Given the description of an element on the screen output the (x, y) to click on. 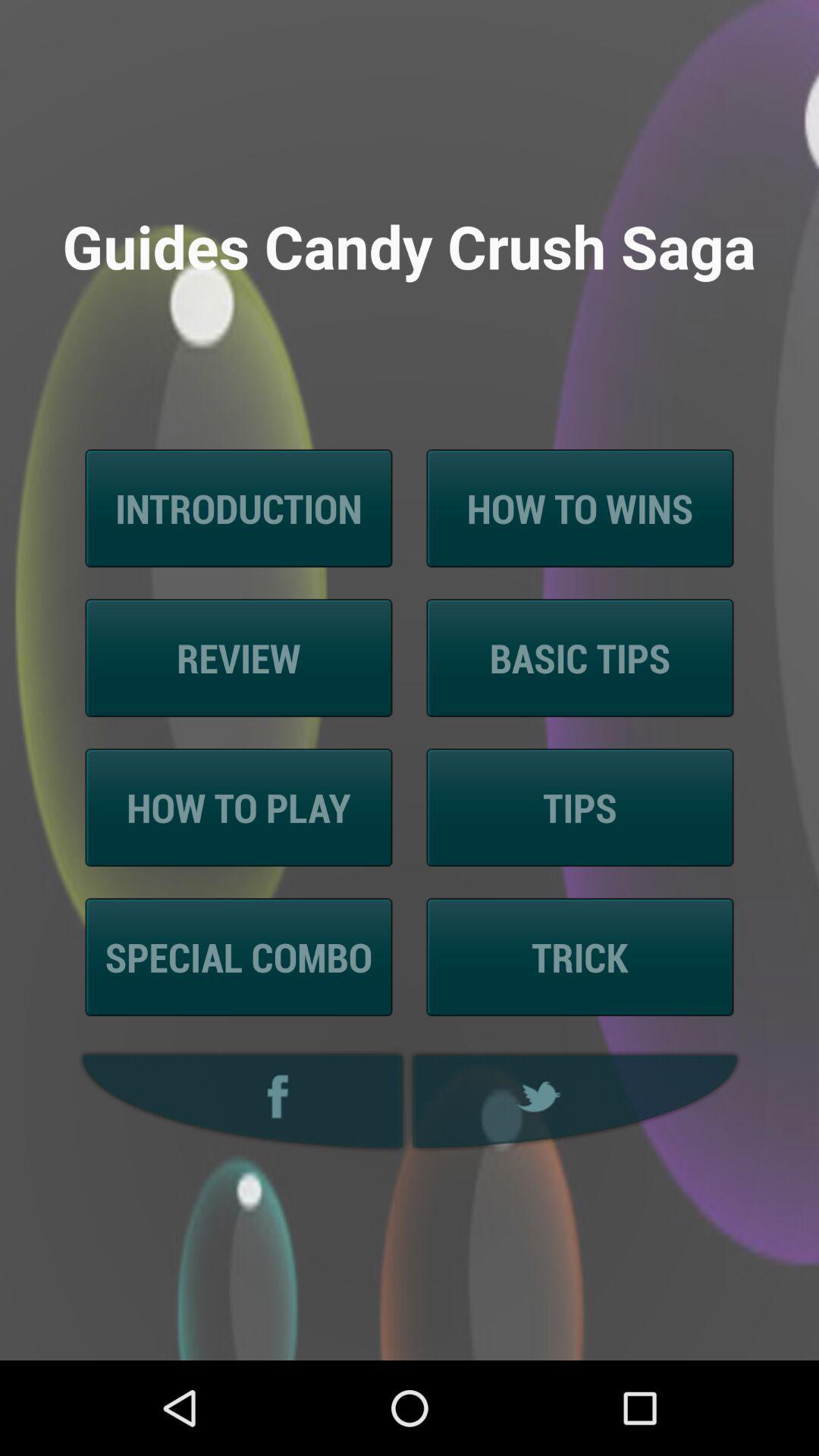
open the icon at the bottom right corner (577, 1101)
